Given the description of an element on the screen output the (x, y) to click on. 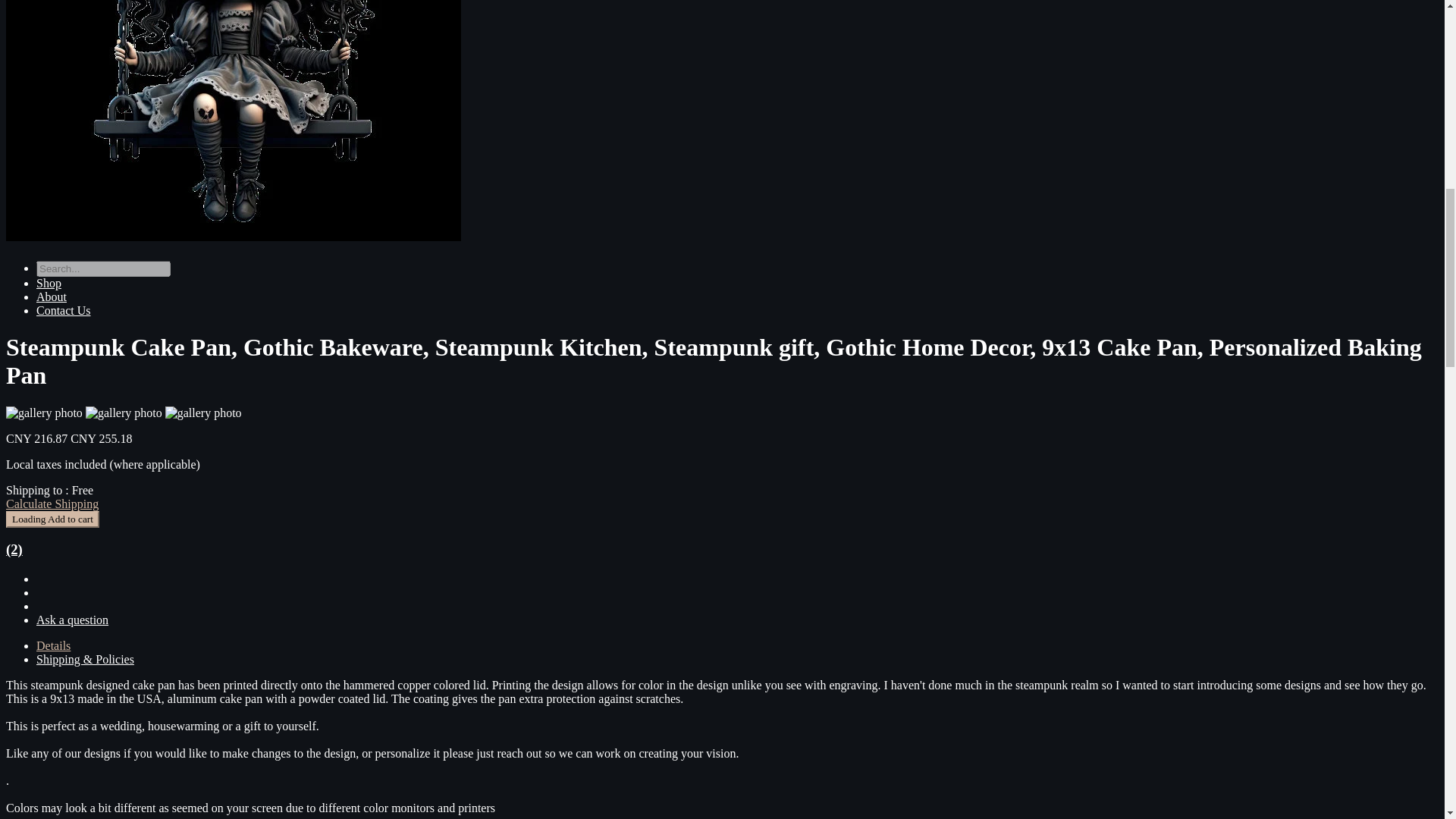
Loading Add to cart (52, 519)
About (51, 296)
Ask a question (71, 619)
Shop (48, 282)
Calculate Shipping (52, 503)
Contact Us (63, 309)
Details (52, 645)
